Given the description of an element on the screen output the (x, y) to click on. 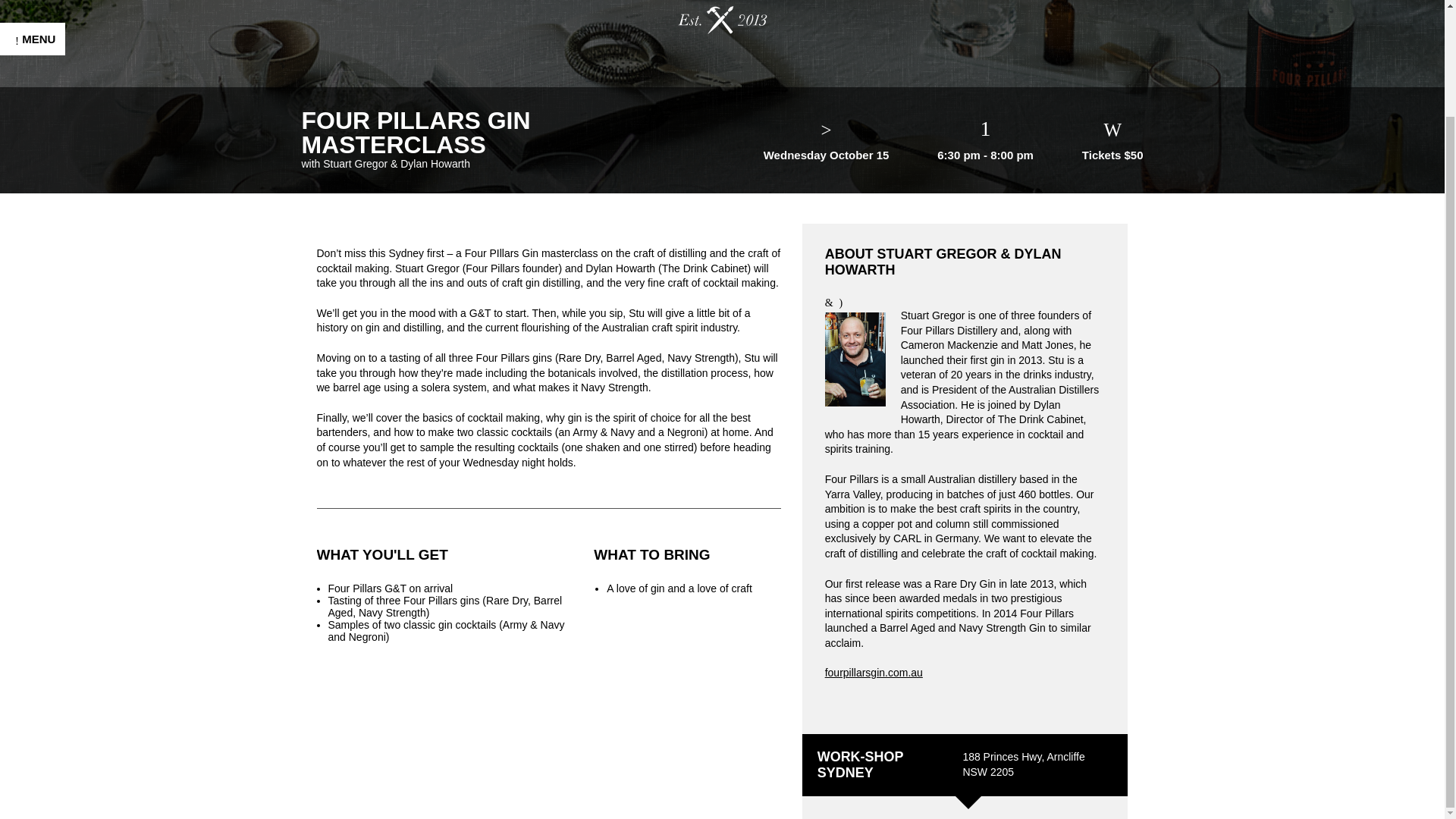
ACTIVATIONS (58, 206)
BLOG (33, 439)
CLASSES (46, 112)
PRESS (37, 377)
HOW WE ROLL (63, 408)
MURALS (42, 237)
fourpillarsgin.com.au (874, 672)
TEACH (37, 346)
VENUE HIRE MELBOURNE (57, 276)
CONTACT (47, 470)
TEAM BUILDING (67, 143)
GIFT VOUCHERS (71, 314)
HOME (35, 81)
HENS ACTIVITIES (72, 174)
Work-Shop (722, 17)
